Given the description of an element on the screen output the (x, y) to click on. 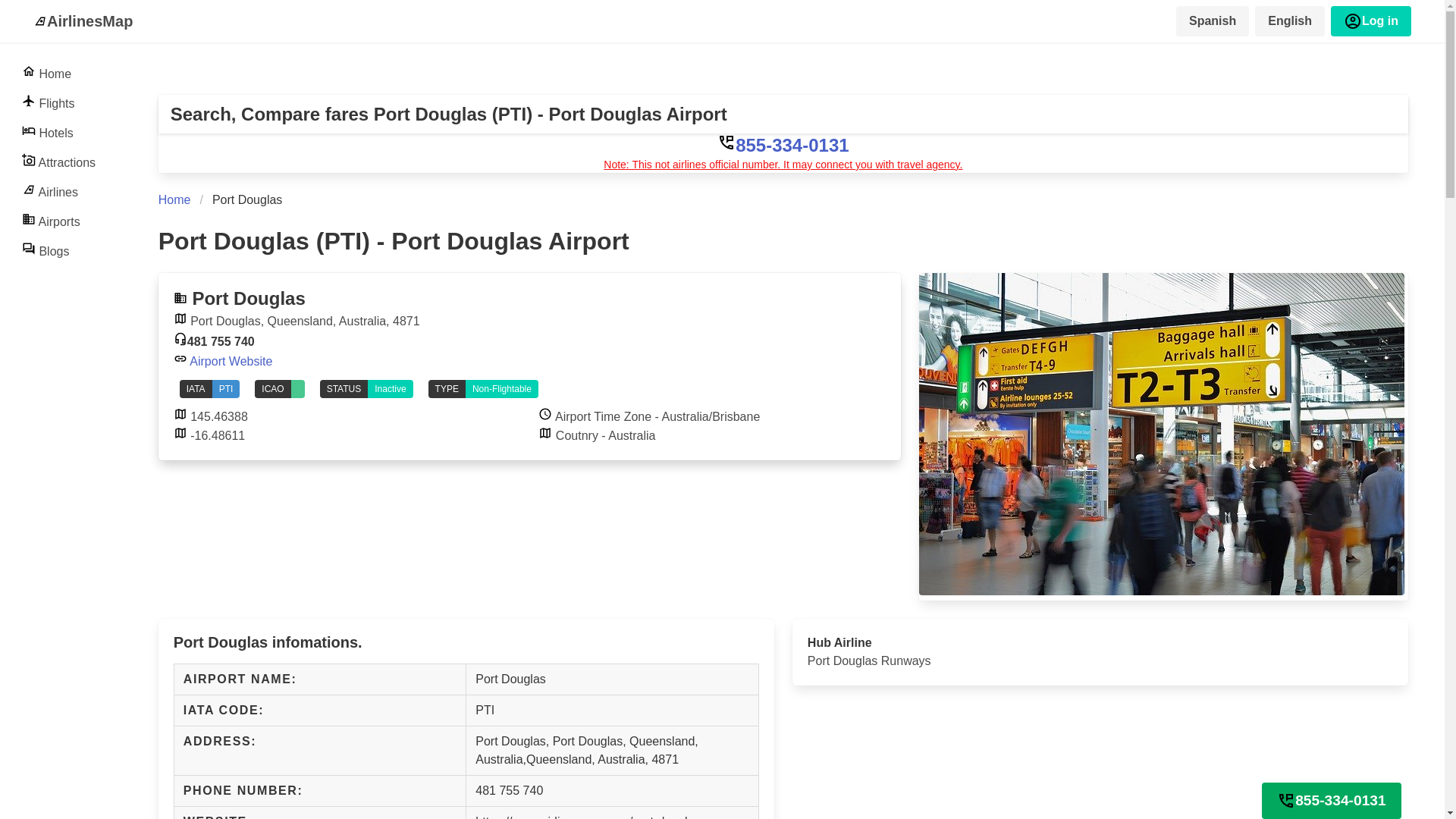
Airport Website (223, 360)
Airports (58, 220)
English (1289, 20)
Airlines (58, 191)
Blogs (58, 250)
855-334-0131 (782, 145)
Log in (1370, 20)
Hotels (58, 132)
Home (58, 72)
Flights (58, 102)
